Given the description of an element on the screen output the (x, y) to click on. 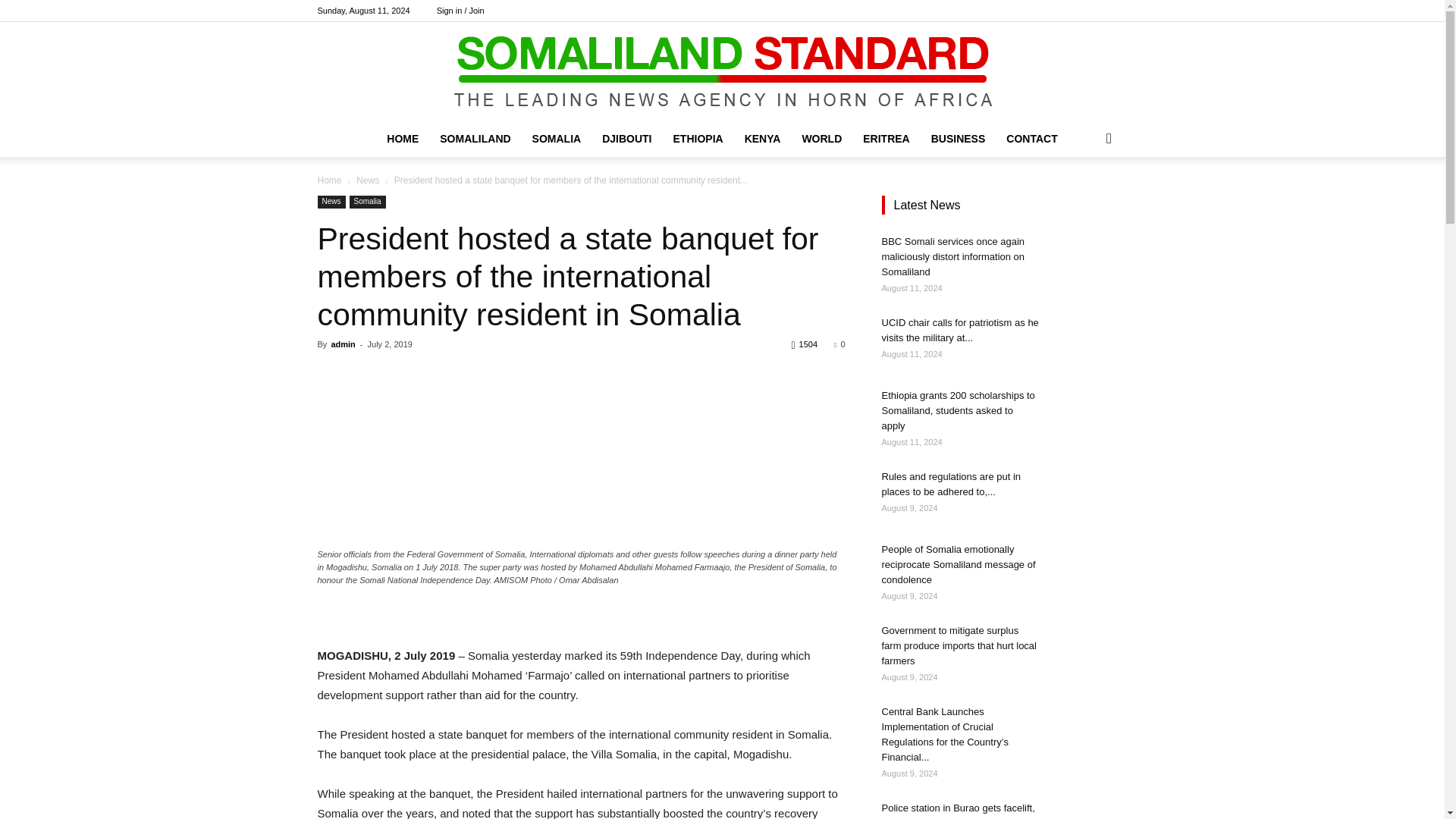
Youtube (1114, 10)
Facebook (1040, 10)
HOME (402, 138)
SOMALILAND (475, 138)
Twitter (1090, 10)
